Given the description of an element on the screen output the (x, y) to click on. 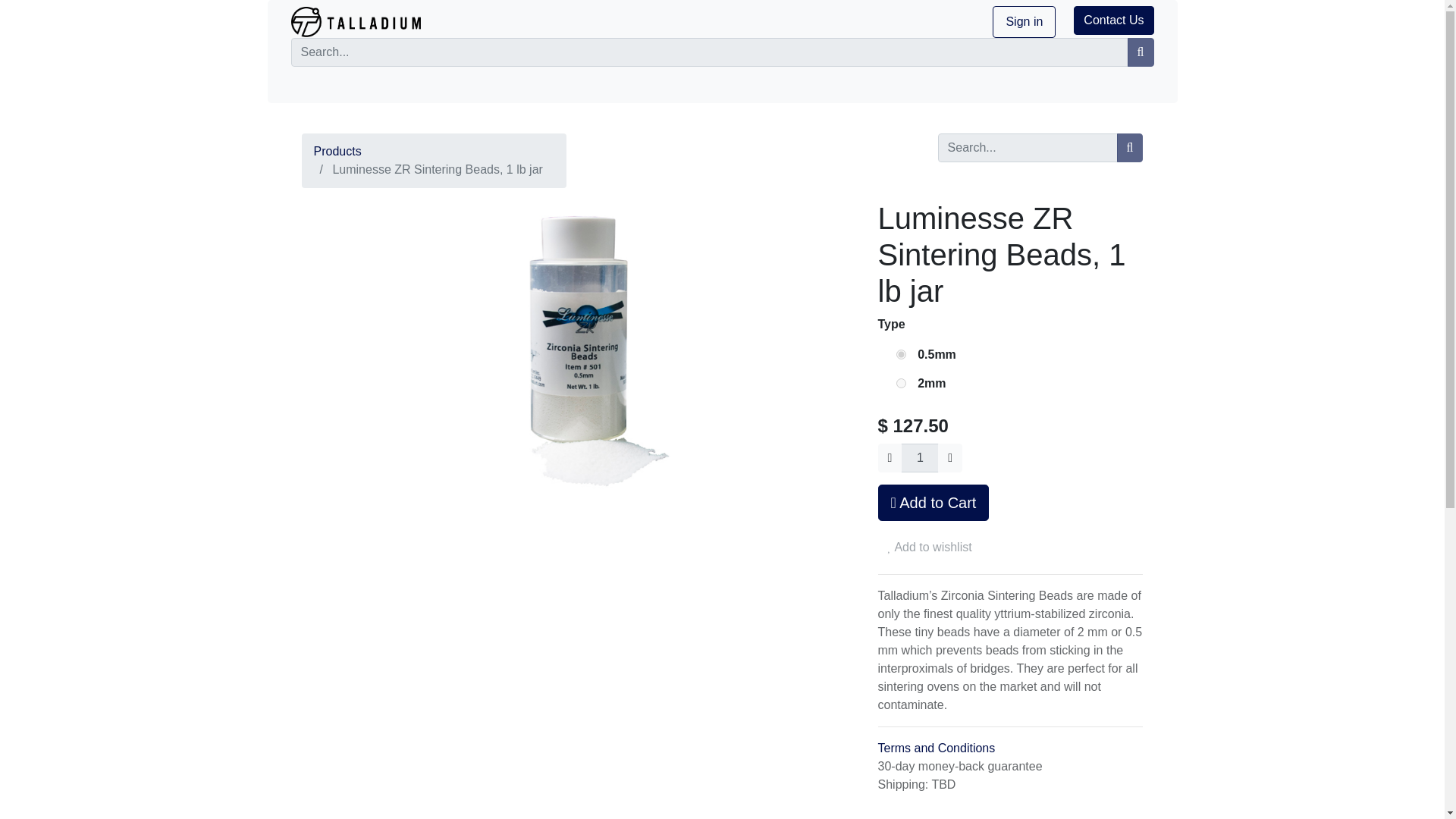
Add to Cart (933, 502)
Search (1129, 147)
Contact Us (1113, 20)
Sign in (1023, 21)
Add to wishlist (929, 547)
1 (920, 457)
318 (900, 383)
Dental Lab Supplies at Talladium, Inc. (355, 21)
586 (900, 354)
Products (337, 151)
Search (1140, 51)
Terms and Conditions (936, 748)
